Given the description of an element on the screen output the (x, y) to click on. 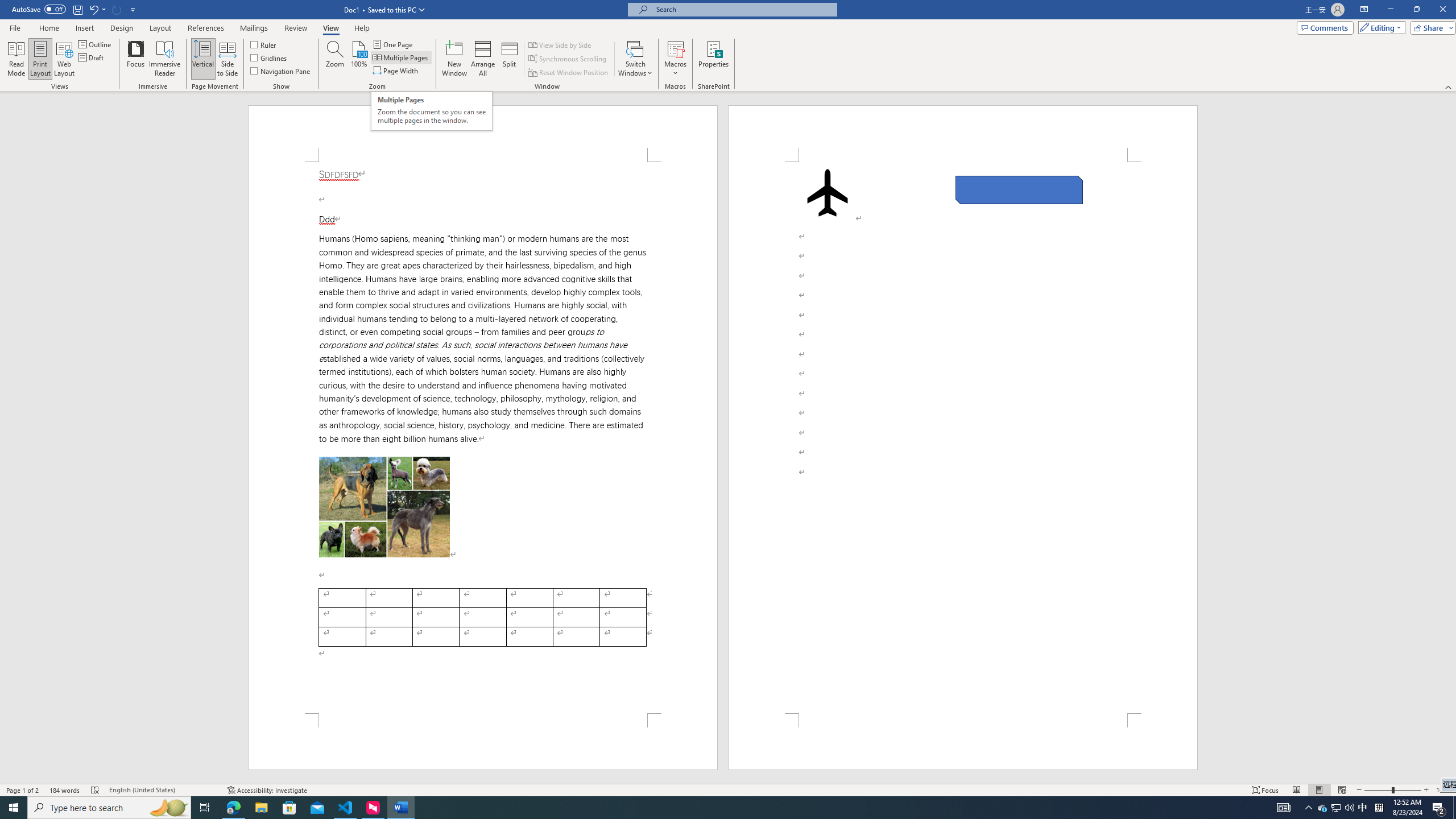
Page Number Page 1 of 2 (22, 790)
Rectangle: Diagonal Corners Snipped 2 (1019, 189)
Side to Side (226, 58)
Editing (1379, 27)
Focus (135, 58)
Zoom 104% (1443, 790)
Navigation Pane (281, 69)
Morphological variation in six dogs (383, 507)
